Given the description of an element on the screen output the (x, y) to click on. 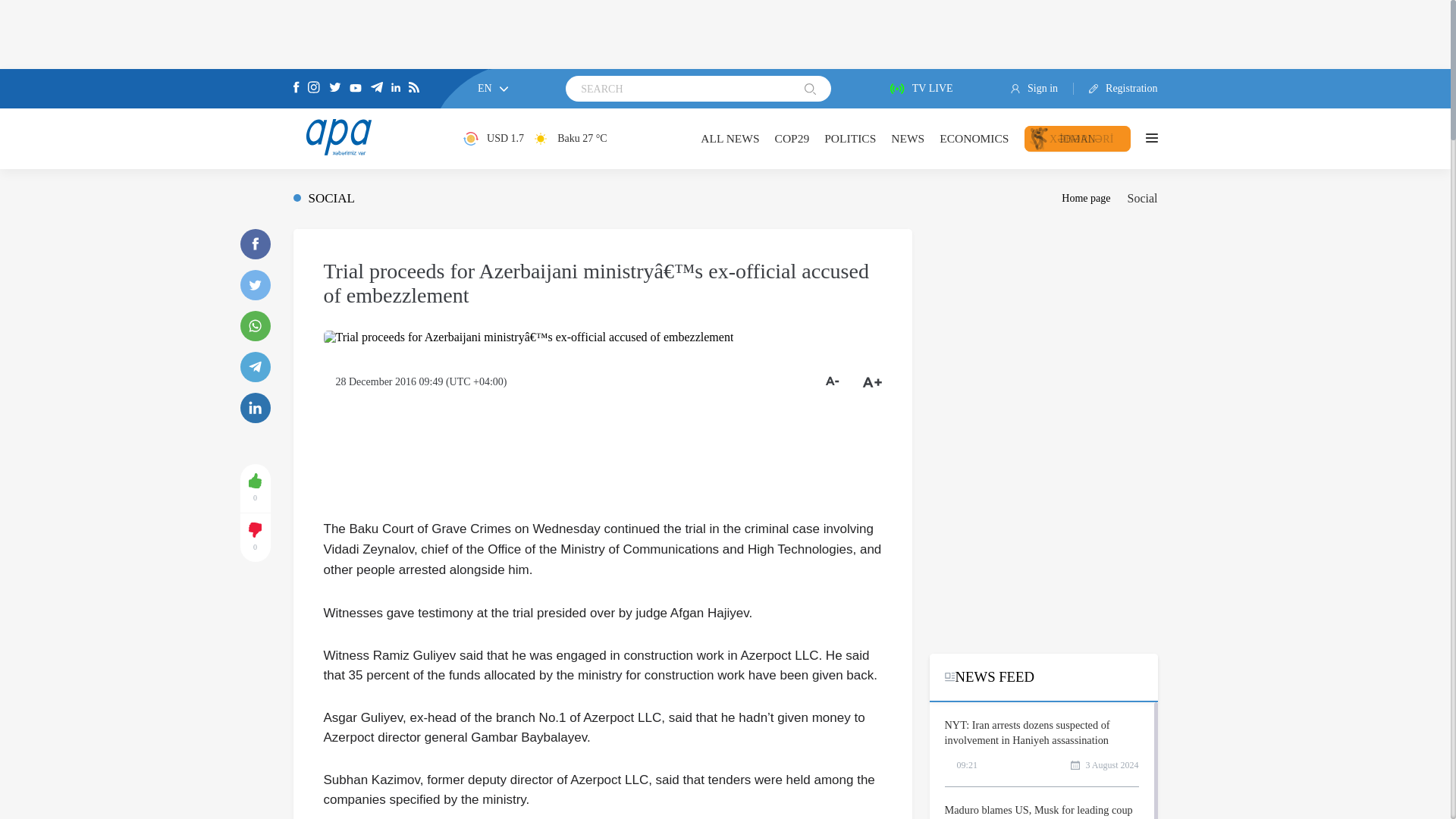
TV LIVE (921, 88)
ECONOMICS (974, 138)
POLITICS (850, 138)
Sign in (1042, 88)
NEWS (907, 138)
Registration (1115, 88)
ALL NEWS (729, 138)
USD 1.7 (493, 138)
COP29 (791, 138)
